Given the description of an element on the screen output the (x, y) to click on. 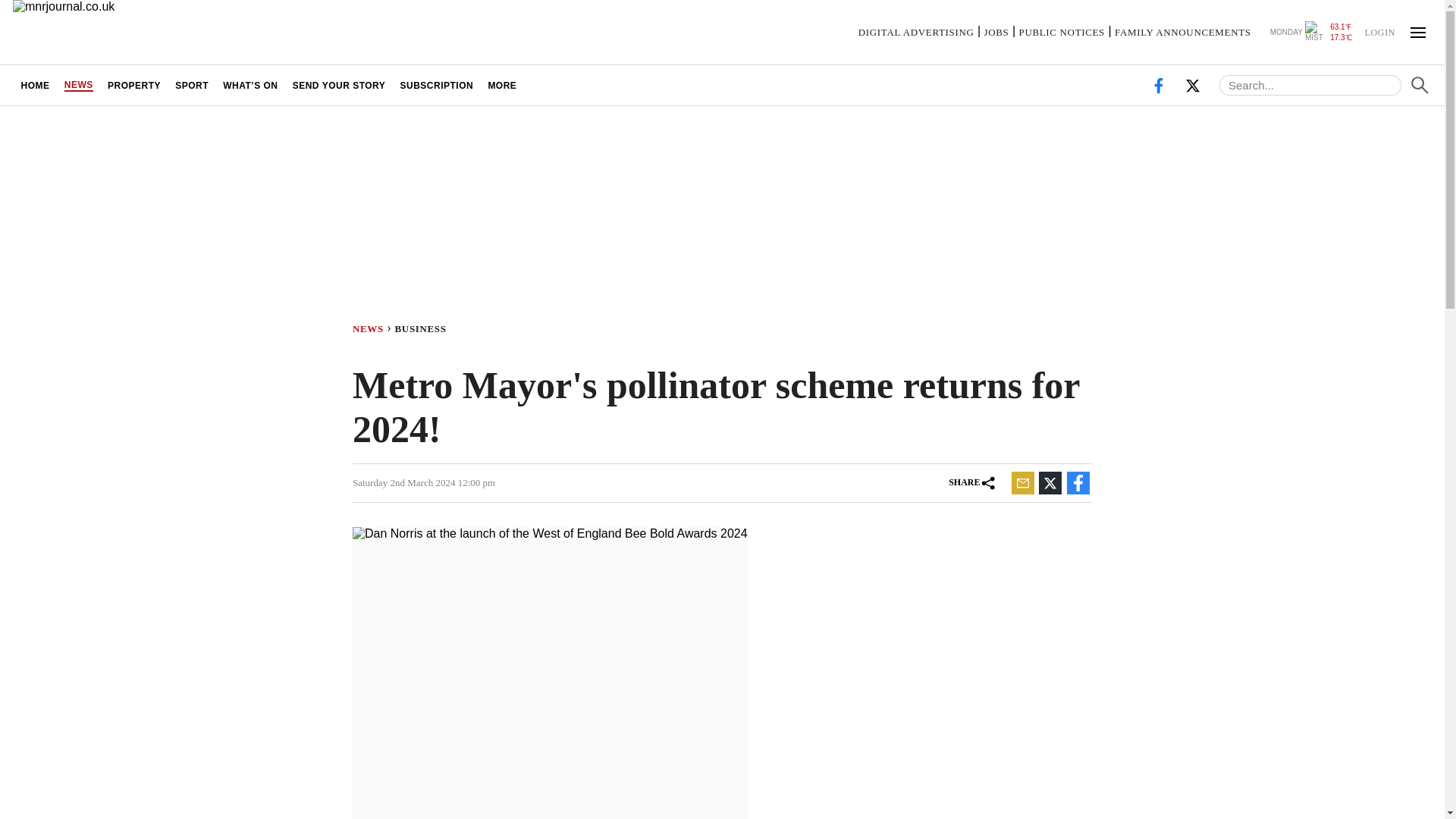
SUBSCRIPTION (436, 85)
PROPERTY (133, 85)
SPORT (191, 85)
LOGIN (1379, 31)
NEWS (78, 85)
FAMILY ANNOUNCEMENTS (1182, 32)
HOME (34, 85)
BUSINESS (423, 328)
MORE (502, 85)
SEND YOUR STORY (339, 85)
